Given the description of an element on the screen output the (x, y) to click on. 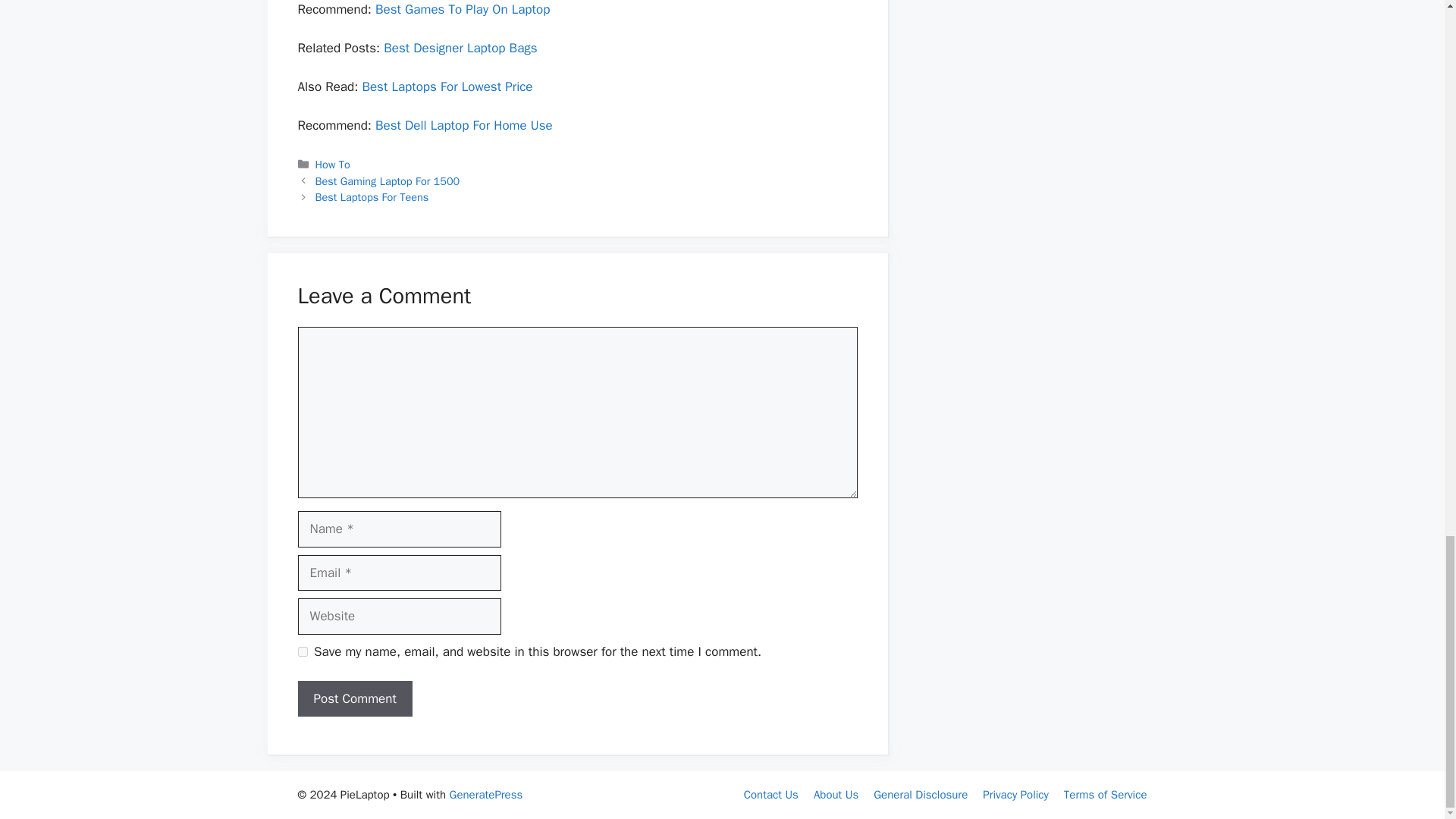
Best Laptops For Lowest Price (446, 86)
Post Comment (354, 698)
Best Designer Laptop Bags (460, 48)
How To (332, 164)
Best Dell Laptop For Home Use (464, 125)
Best Laptops For Teens (372, 196)
yes (302, 651)
Best Gaming Laptop For 1500 (387, 181)
Best Games To Play On Laptop (462, 9)
Post Comment (354, 698)
